Given the description of an element on the screen output the (x, y) to click on. 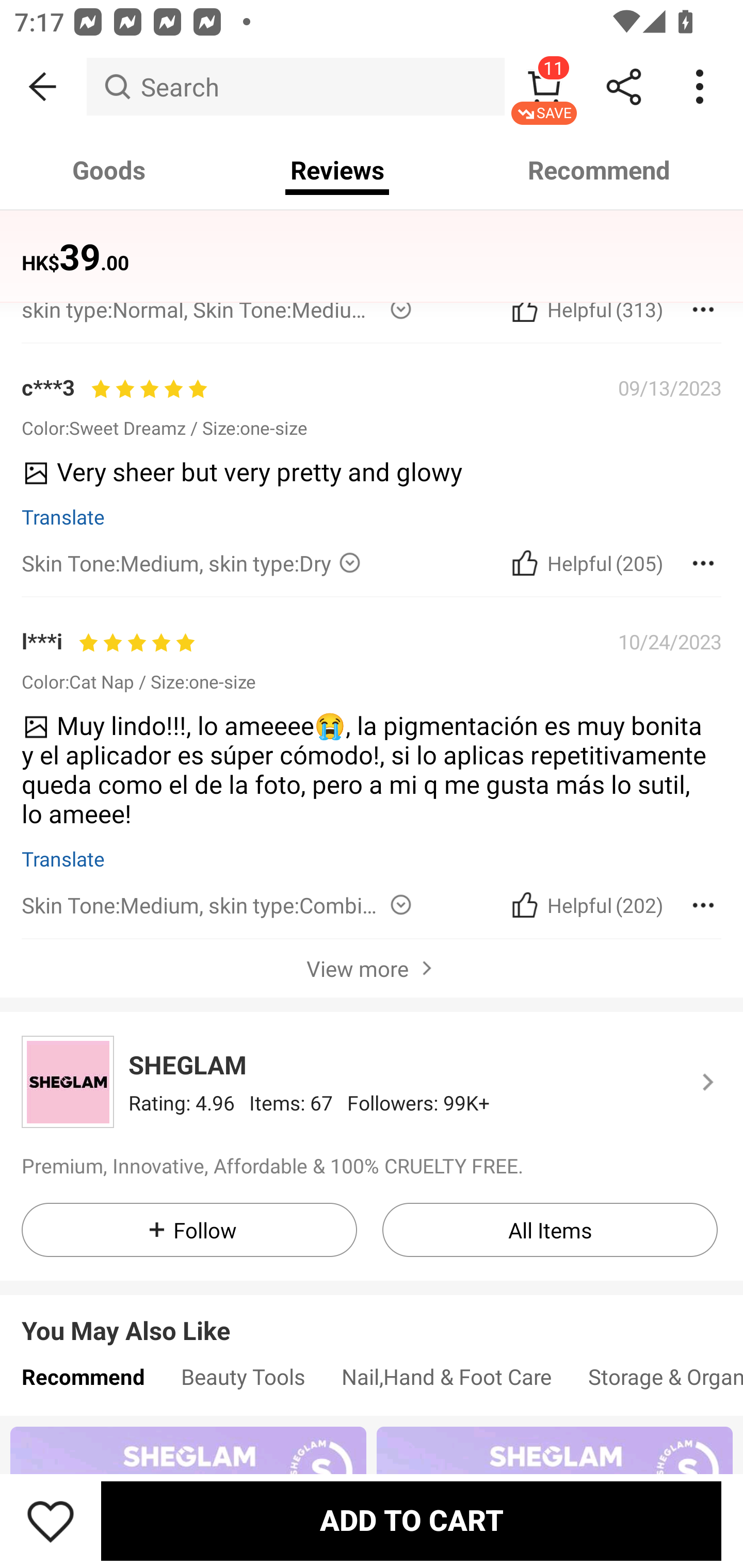
BACK (43, 86)
11 SAVE (543, 87)
Search (295, 87)
Goods (109, 170)
Reviews (337, 170)
Recommend (599, 170)
Cancel Helpful Was this article helpful? (313) (585, 309)
  Very sheer but very pretty and glowy (363, 478)
Translate (62, 516)
Cancel Helpful Was this article helpful? (205) (585, 562)
Translate (62, 858)
Cancel Helpful Was this article helpful? (202) (585, 905)
Follow (189, 1229)
All Items (549, 1229)
You May Also Like (371, 1316)
Recommend (82, 1381)
Beauty Tools (242, 1381)
Nail,Hand & Foot Care (446, 1381)
Storage & Organization (656, 1381)
ADD TO CART (411, 1520)
Save (50, 1520)
